Given the description of an element on the screen output the (x, y) to click on. 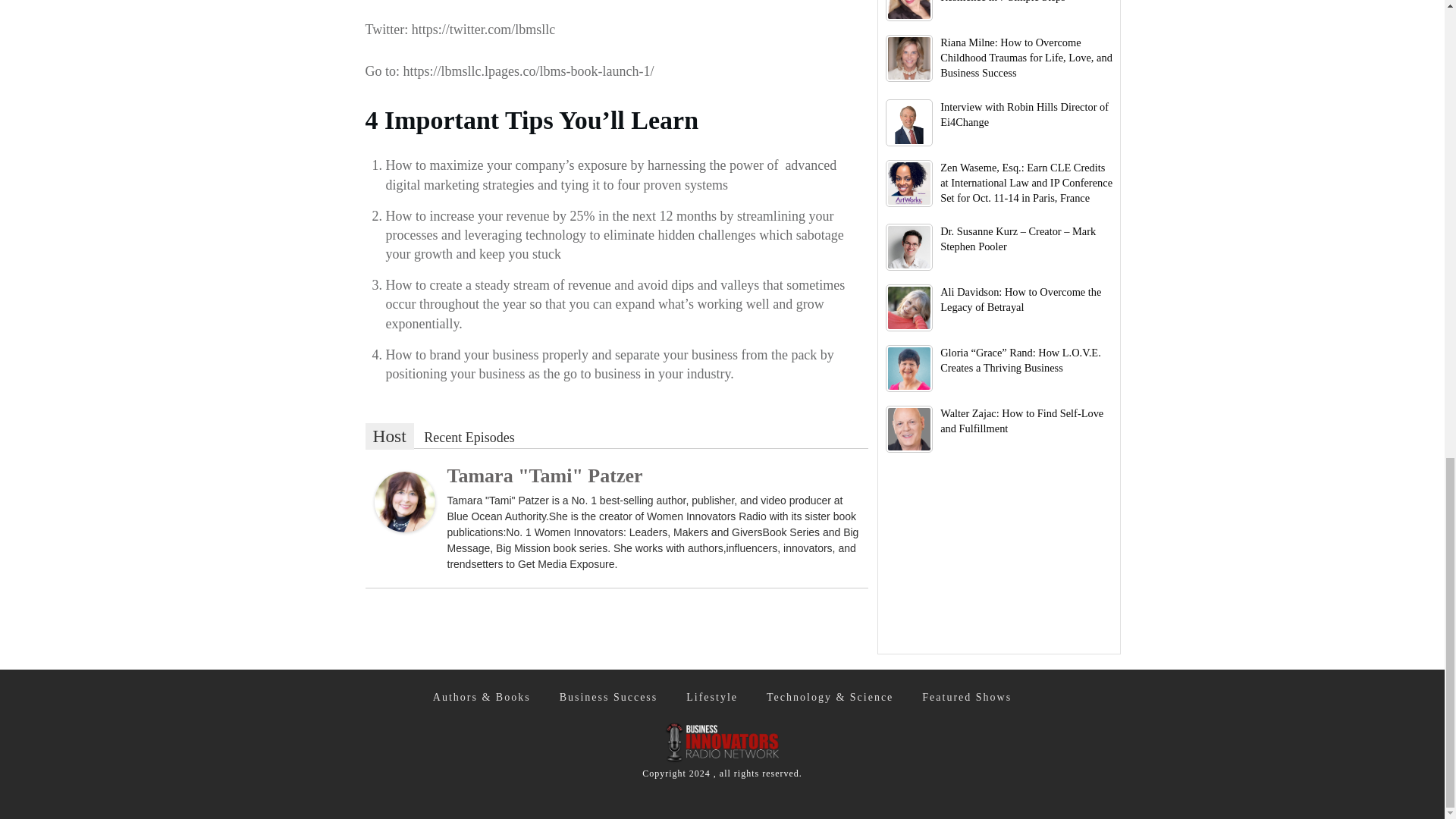
Host (389, 436)
Tamara  (404, 501)
Recent Episodes (468, 437)
Tamara "Tami" Patzer (544, 475)
